Given the description of an element on the screen output the (x, y) to click on. 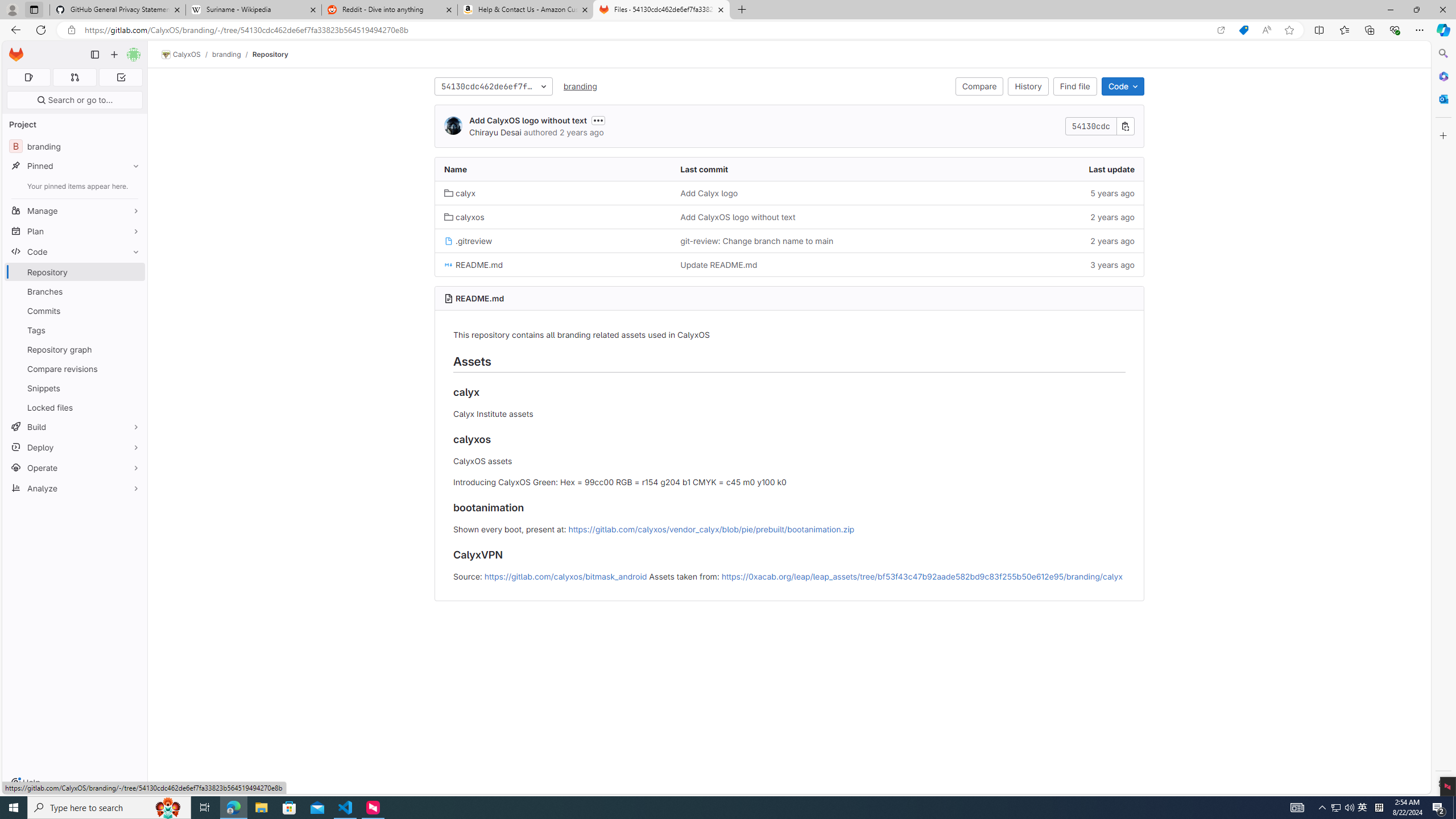
Pinned (74, 165)
Chirayu Desai's avatar (453, 125)
Pin Repository graph (132, 349)
Tags (74, 330)
Last commit (789, 169)
Repository (269, 53)
Chirayu Desai's avatar (453, 125)
README.md (478, 298)
